Given the description of an element on the screen output the (x, y) to click on. 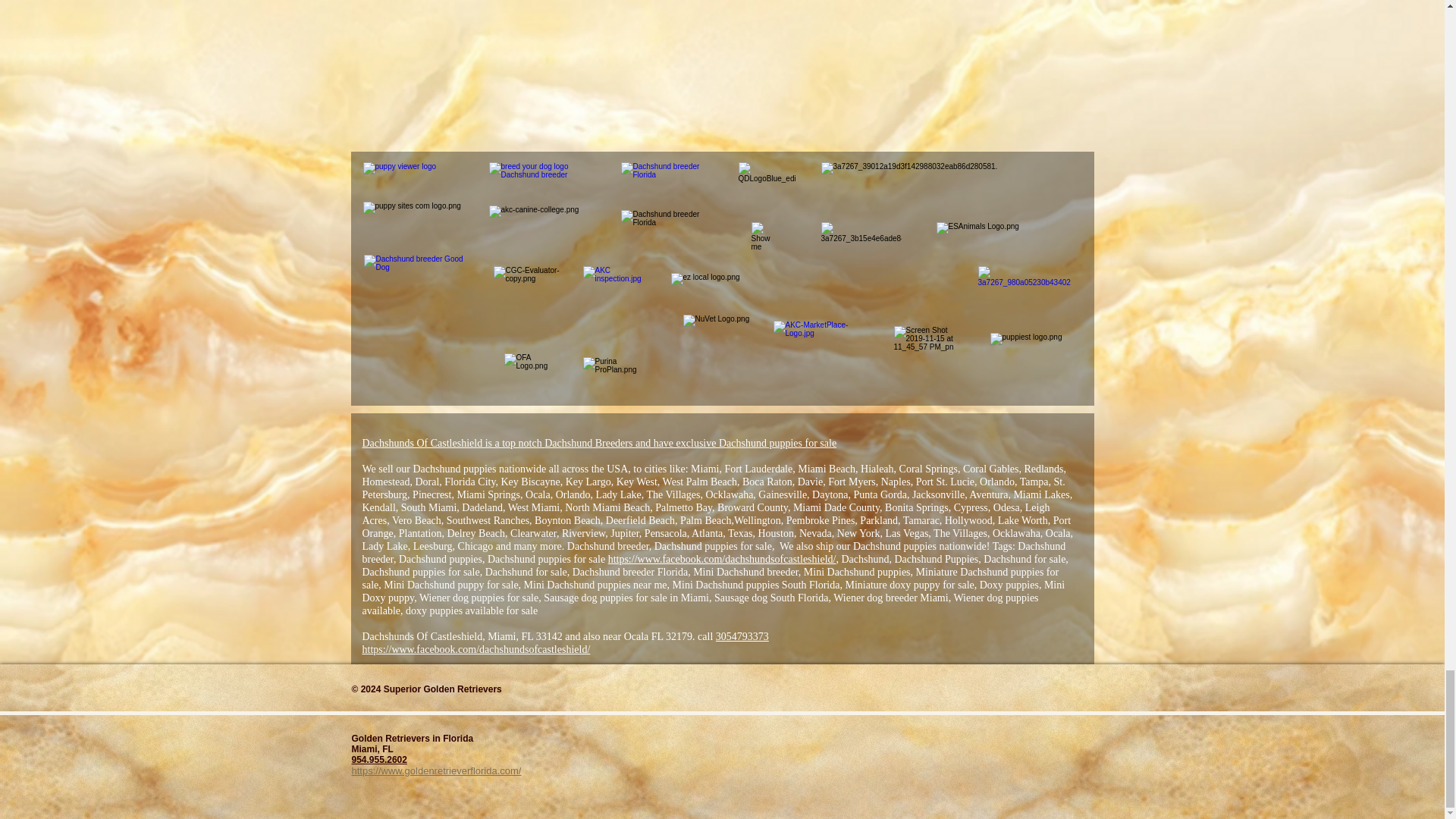
Dachshund (422, 559)
Dachshund (677, 546)
Dachshund (743, 442)
Dachshunds Of Castleshield is a top notch (453, 442)
Dachshund (877, 546)
Breeders and have exclusive (655, 442)
Dachshund (436, 469)
Dachshund (590, 546)
Dachshund (568, 442)
puppies for sale (801, 442)
Dachshund (1041, 546)
